Given the description of an element on the screen output the (x, y) to click on. 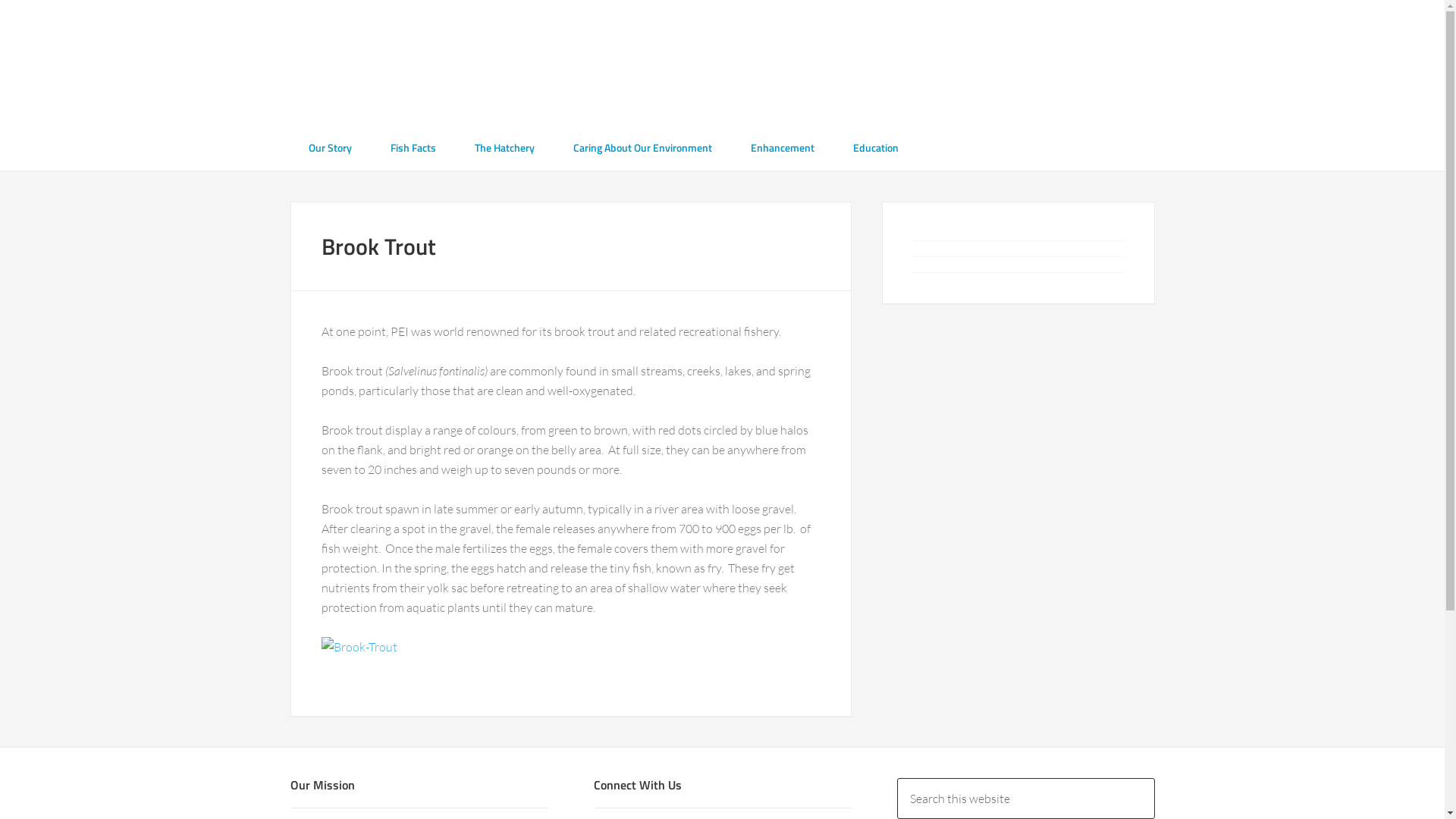
Education Element type: text (875, 147)
Caring About Our Environment Element type: text (642, 147)
Search Element type: text (1154, 777)
Abegweit Biodiversity Enhancement Hatchery Element type: text (721, 64)
Enhancement Element type: text (782, 147)
Fish Facts Element type: text (412, 147)
Our Story Element type: text (329, 147)
The Hatchery Element type: text (504, 147)
